Given the description of an element on the screen output the (x, y) to click on. 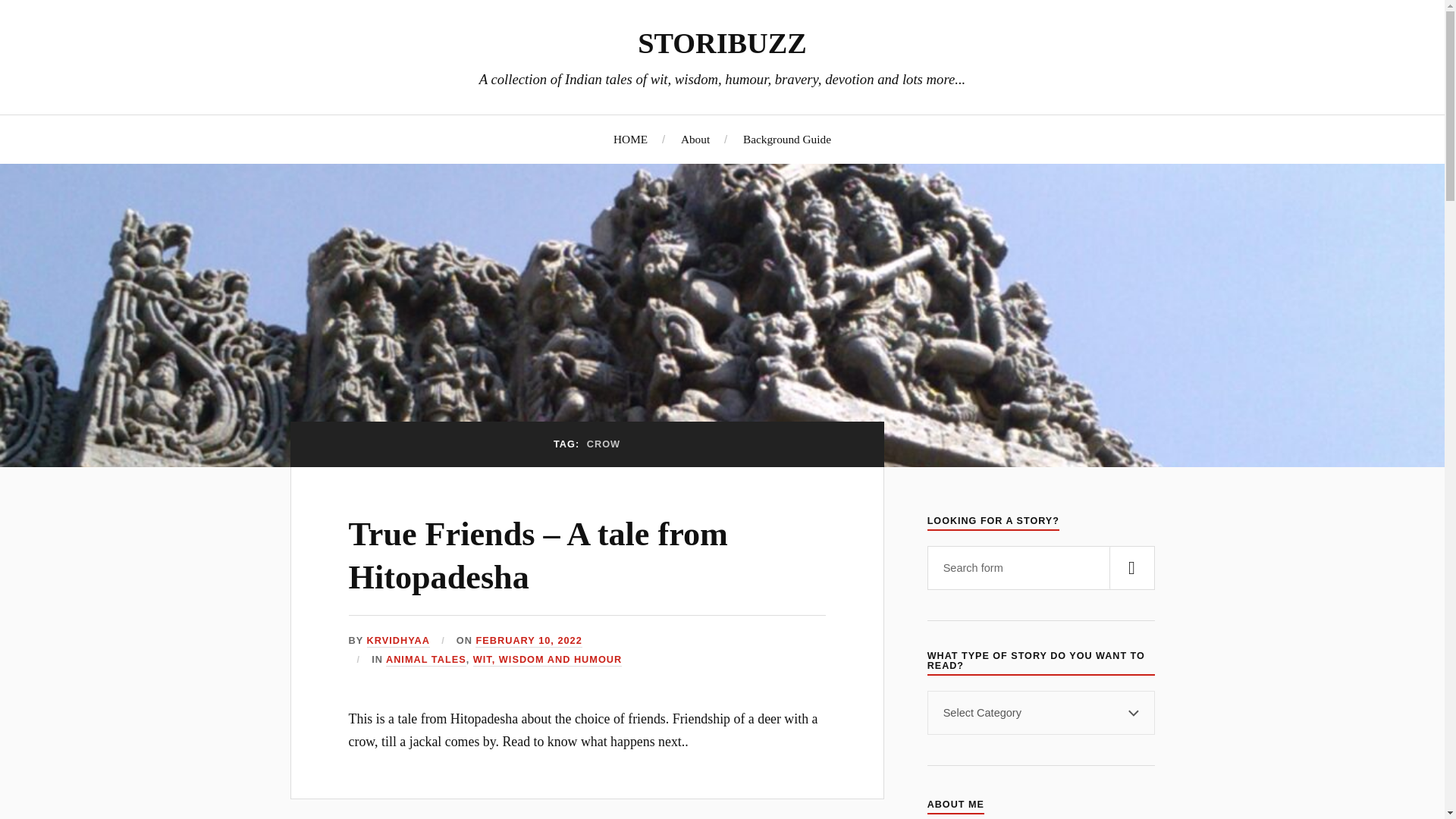
Background Guide (786, 138)
Posts by krvidhyaa (397, 640)
ANIMAL TALES (425, 659)
WIT, WISDOM AND HUMOUR (547, 659)
STORIBUZZ (721, 42)
FEBRUARY 10, 2022 (528, 640)
KRVIDHYAA (397, 640)
